Given the description of an element on the screen output the (x, y) to click on. 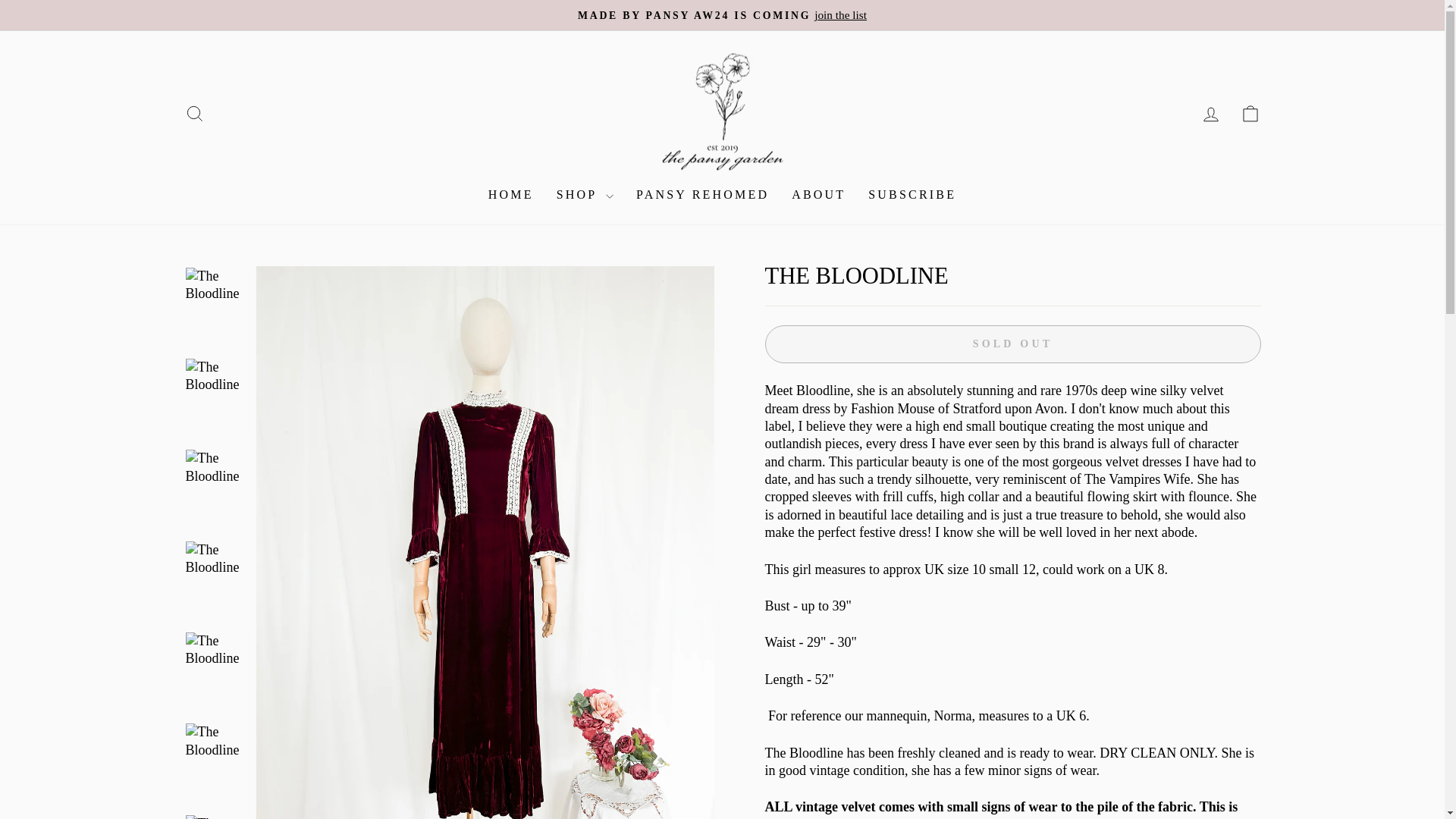
HOME (1249, 113)
SUBSCRIBE (510, 195)
PANSY REHOMED (194, 113)
ACCOUNT (912, 195)
ICON-BAG-MINIMAL (702, 195)
MADE BY PANSY AW24 IS COMINGjoin the list (1210, 114)
ICON-SEARCH (1249, 113)
